Given the description of an element on the screen output the (x, y) to click on. 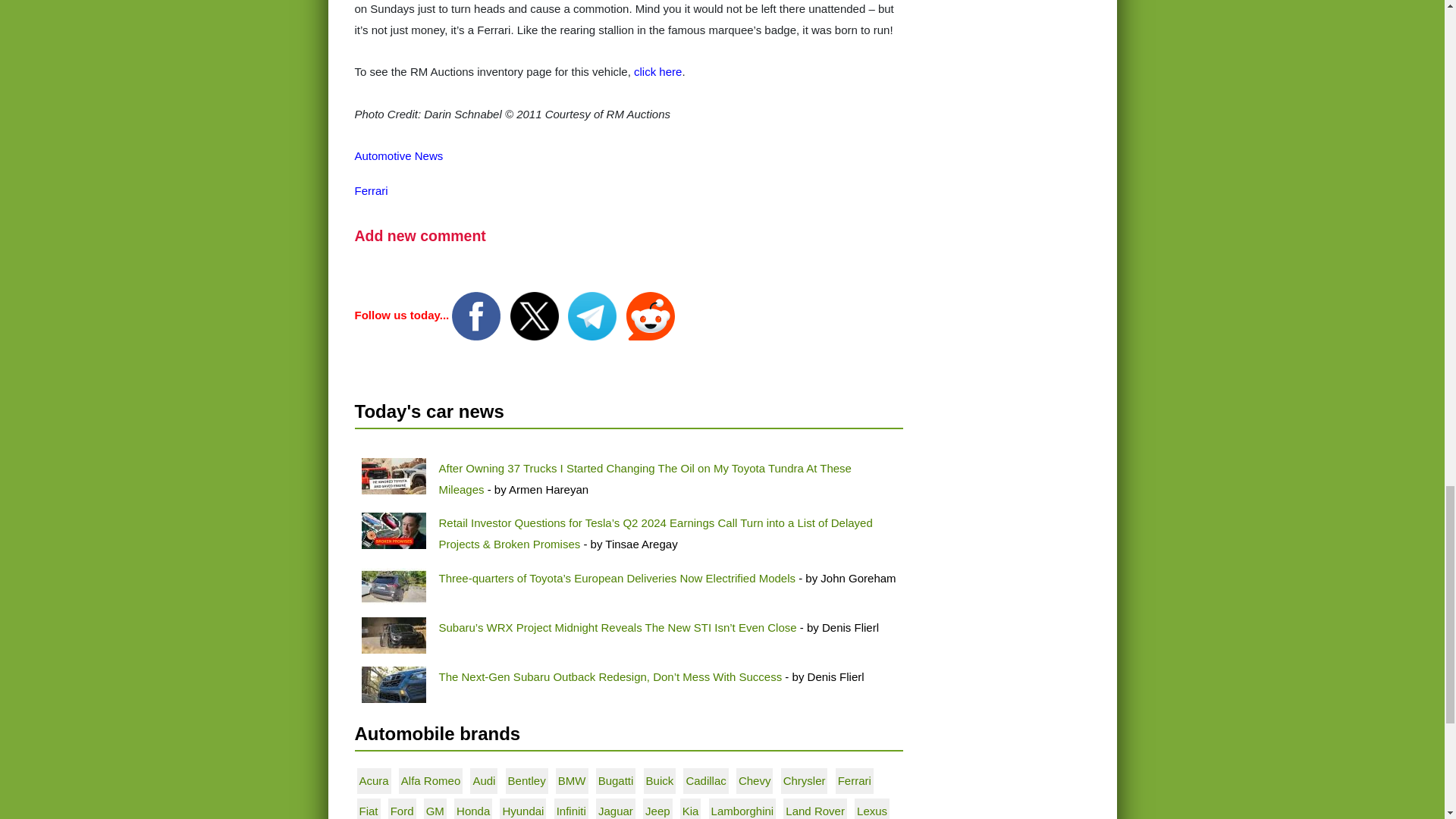
Ferrari (371, 190)
Image of Toyota RAV4 Hybrid in Turkey by John Goreham (393, 586)
Join us on Telegram! (593, 314)
Acura (373, 780)
Share your thoughts and opinions. (420, 235)
Audi (483, 780)
Alfa Romeo (430, 780)
Join us on Reddit! (650, 314)
2026 Subaru Outback grille view (393, 684)
click here (657, 71)
2024 Subaru WRX PM front view (393, 635)
Add new comment (420, 235)
Automotive News (399, 155)
